Given the description of an element on the screen output the (x, y) to click on. 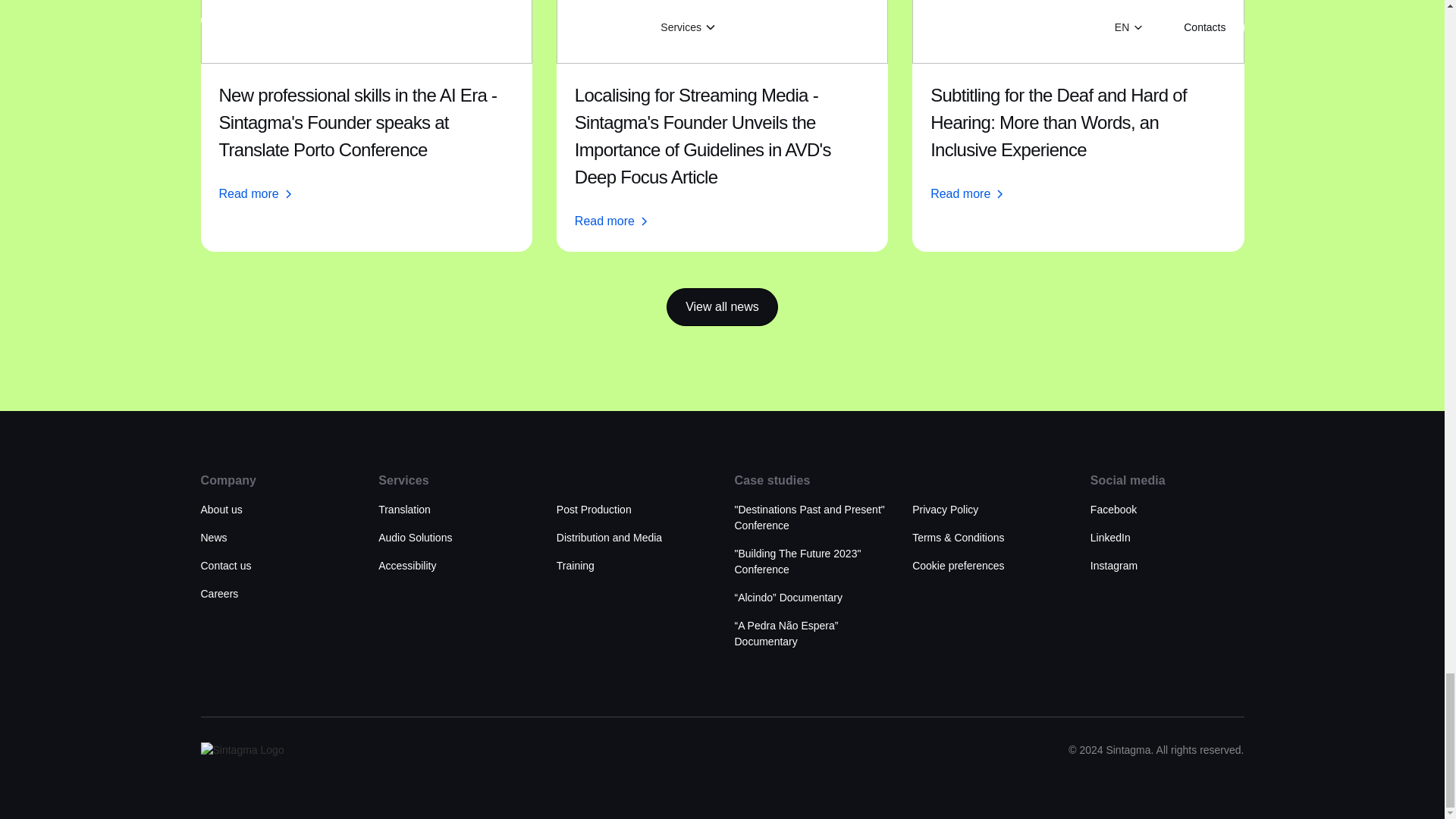
Audio Solutions (414, 538)
About us (220, 510)
Careers (219, 593)
Training (575, 565)
Post Production (593, 510)
View all news (721, 306)
News (213, 538)
Distribution and Media (609, 538)
